Given the description of an element on the screen output the (x, y) to click on. 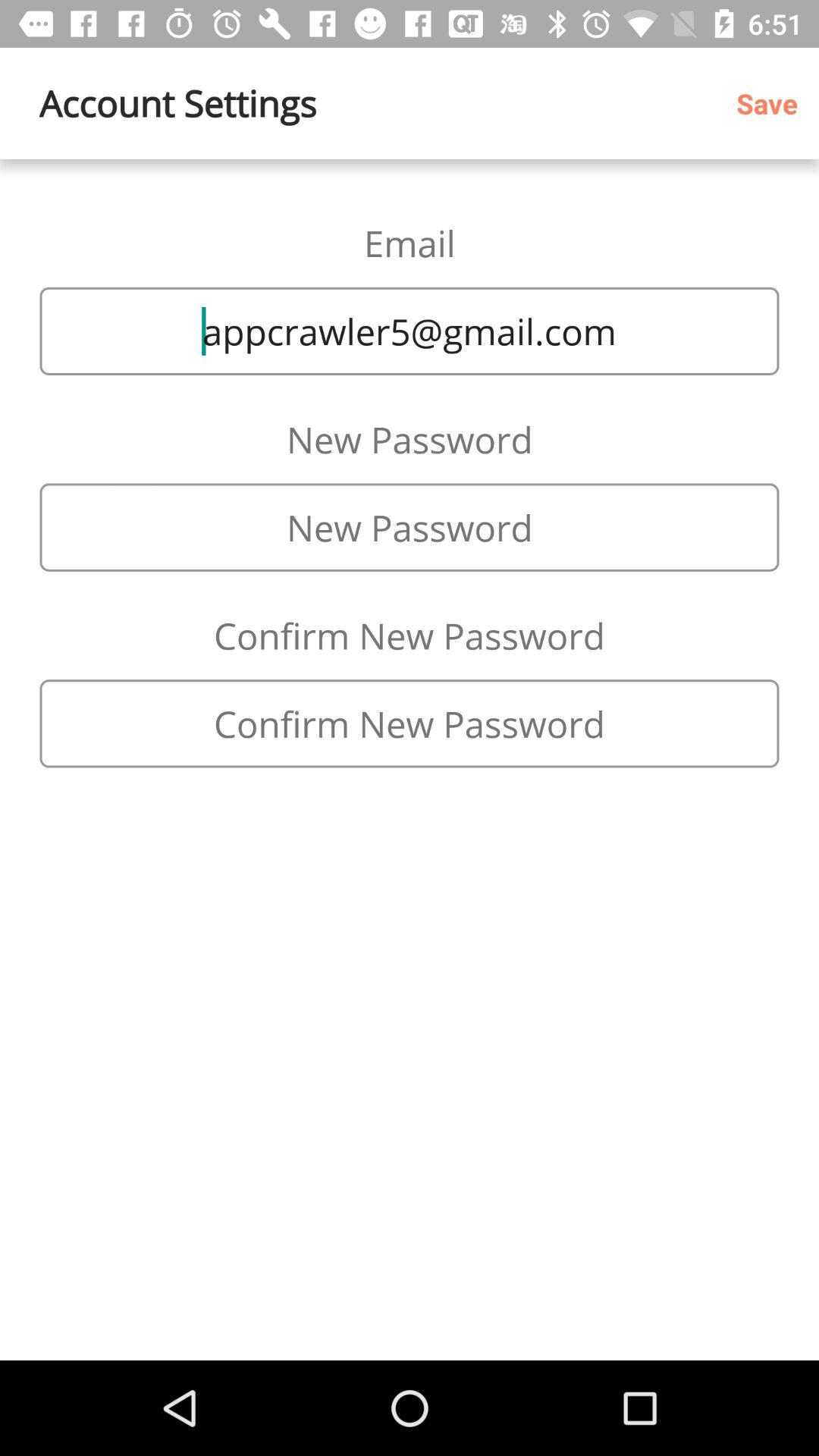
select icon next to account settings item (772, 103)
